Given the description of an element on the screen output the (x, y) to click on. 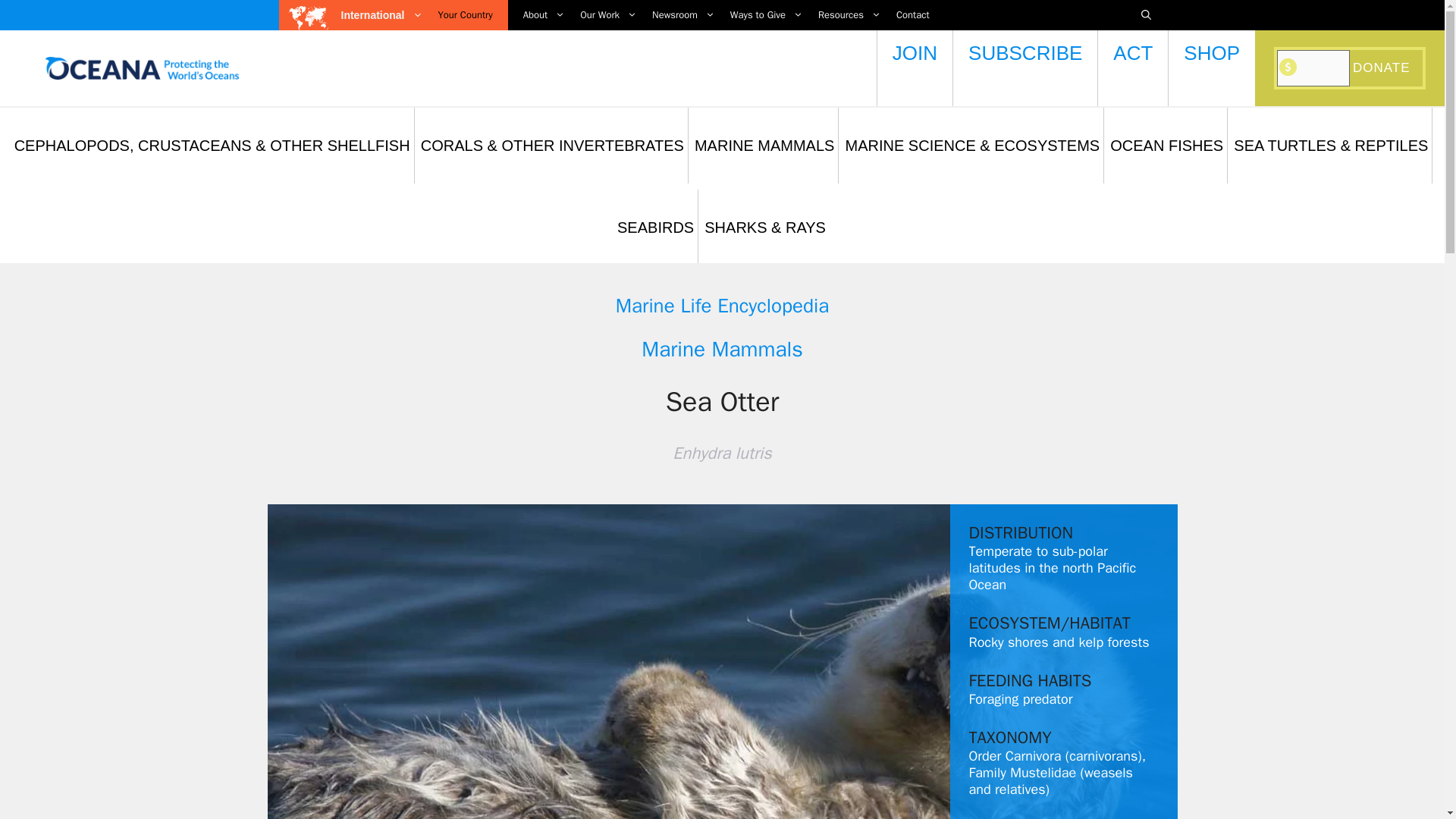
SEABIRDS (654, 227)
Our Work (600, 15)
MARINE MAMMALS (764, 145)
Your Country (465, 15)
International (381, 15)
OCEAN FISHES (1166, 145)
DONATE (1382, 67)
About (536, 15)
